Given the description of an element on the screen output the (x, y) to click on. 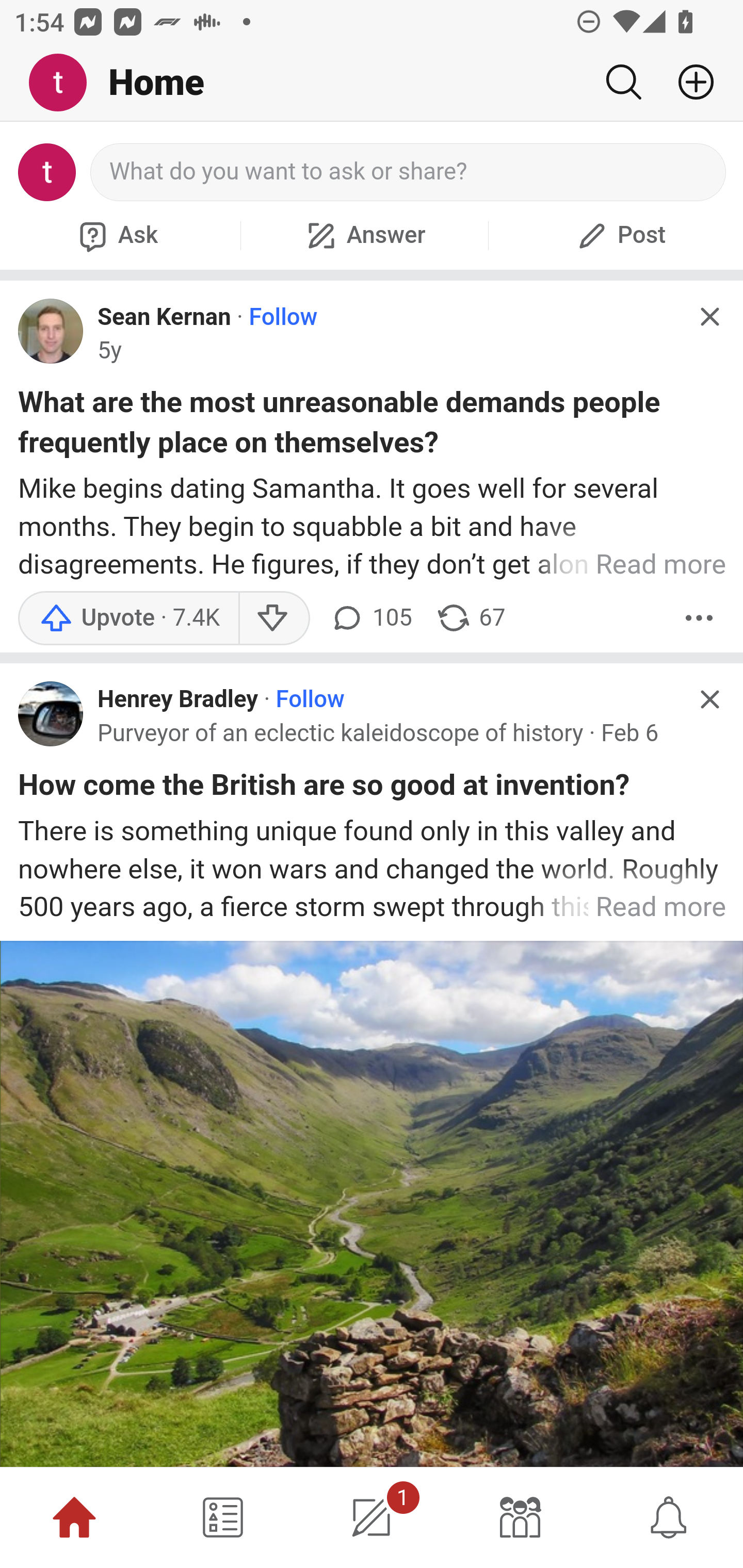
Me (64, 83)
Search (623, 82)
Add (688, 82)
What do you want to ask or share? (408, 172)
Ask (116, 234)
Answer (364, 234)
Post (618, 234)
Hide (709, 316)
Profile photo for Sean Kernan (50, 330)
Sean Kernan (164, 316)
Follow (283, 316)
Upvote (127, 617)
Downvote (273, 617)
105 comments (369, 617)
67 shares (470, 617)
More (699, 617)
Hide (709, 699)
Profile photo for Henrey Bradley (50, 712)
Henrey Bradley (178, 700)
Follow (309, 700)
1 (371, 1517)
